Given the description of an element on the screen output the (x, y) to click on. 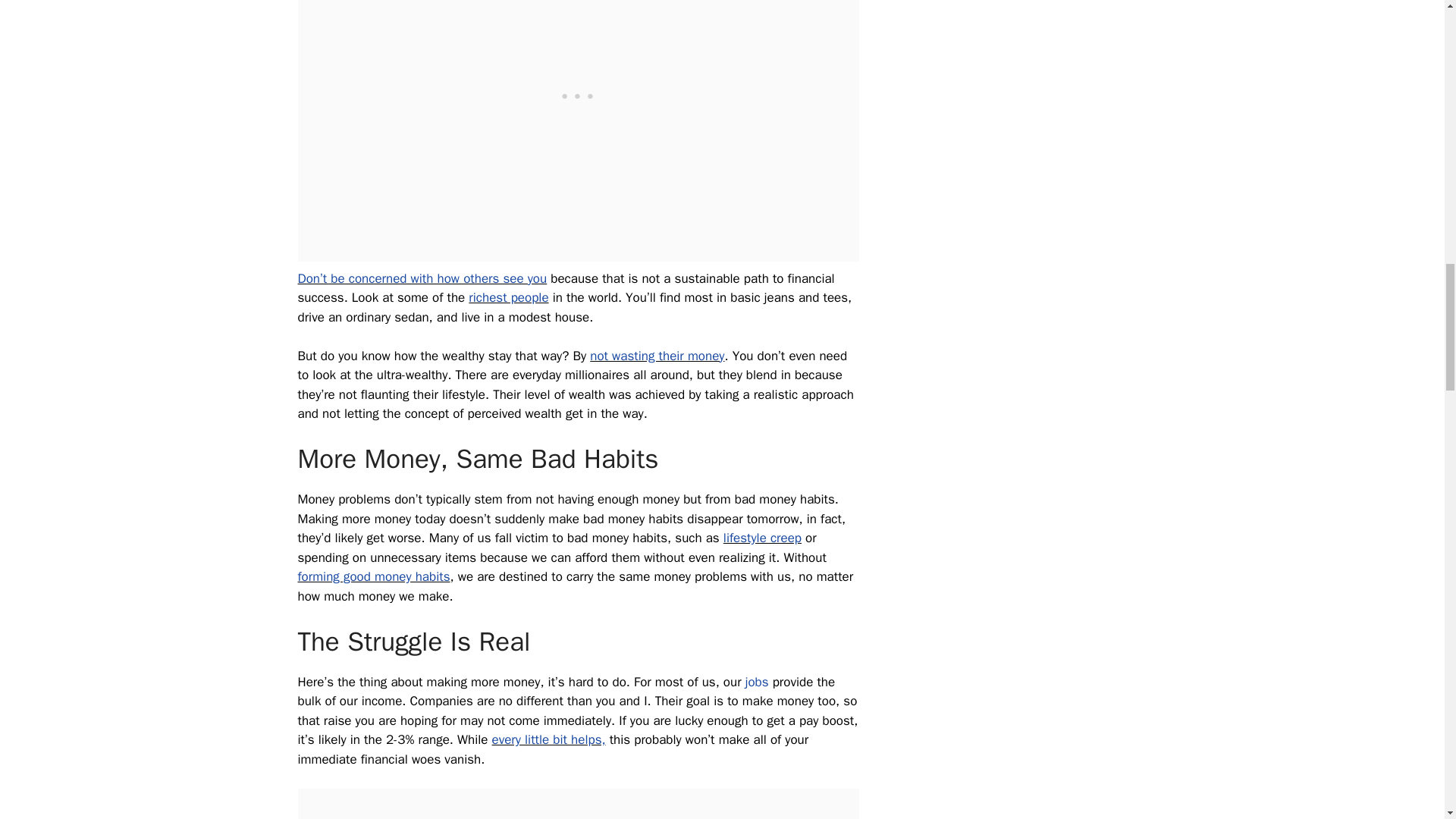
jobs (756, 682)
